Given the description of an element on the screen output the (x, y) to click on. 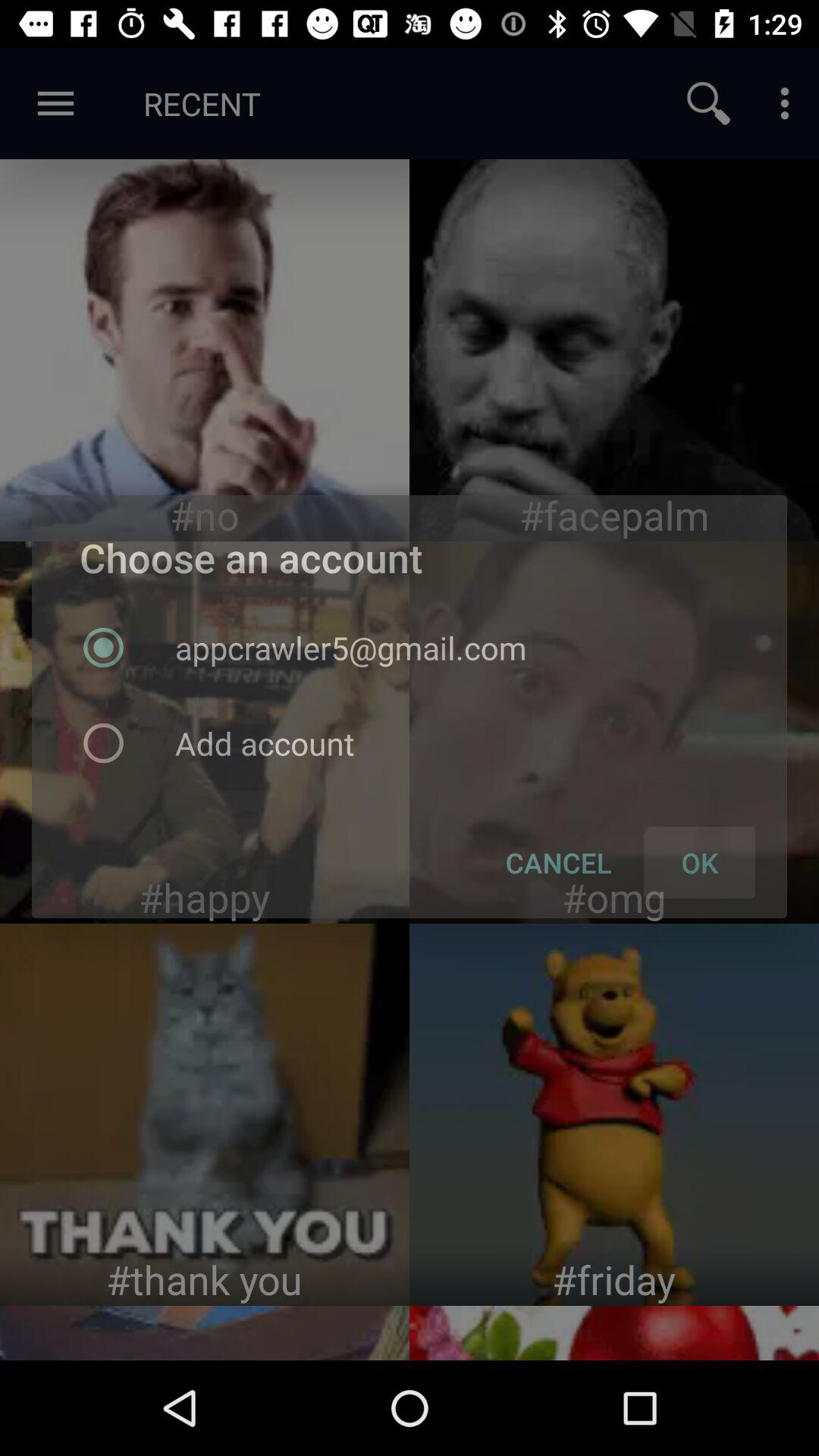
select category (204, 732)
